Given the description of an element on the screen output the (x, y) to click on. 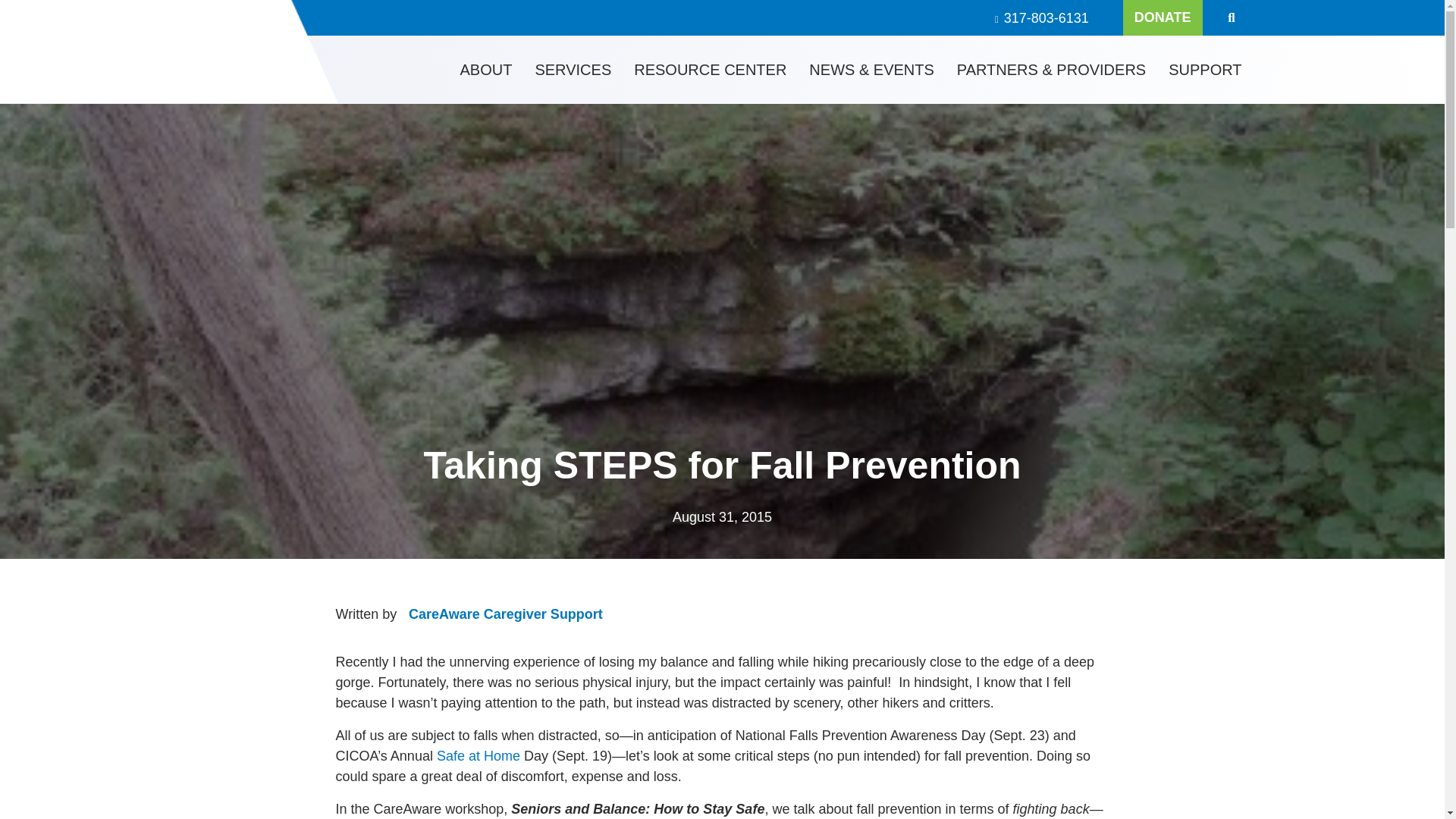
Donate (1162, 18)
CICOA INconnect (121, 52)
DONATE (1162, 18)
ABOUT (486, 70)
SERVICES (572, 70)
RESOURCE CENTER (710, 70)
